Given the description of an element on the screen output the (x, y) to click on. 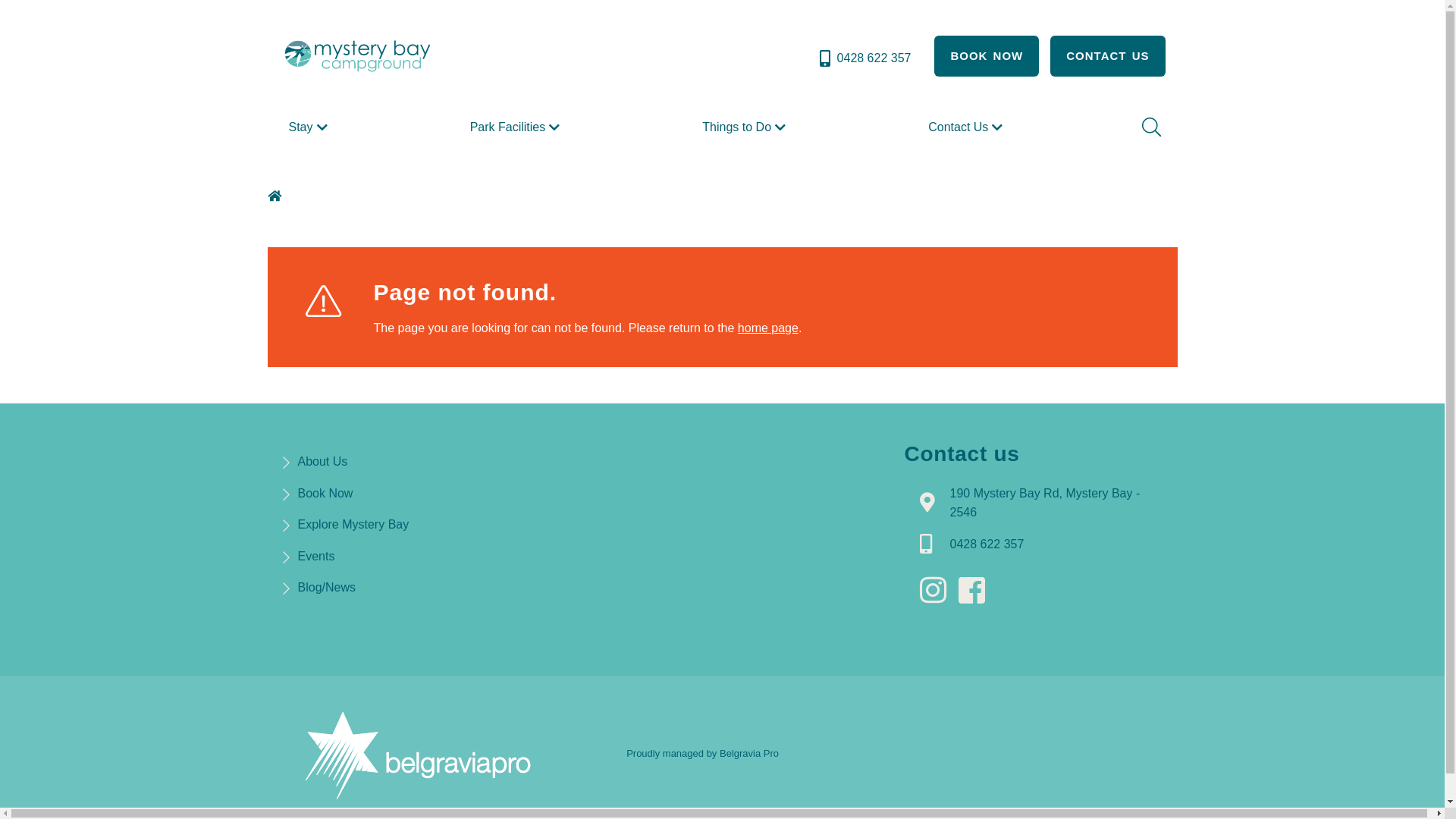
Things to Do Element type: text (745, 127)
Contact Us Element type: text (967, 127)
  Element type: text (975, 590)
Blog/News Element type: text (325, 586)
Explore Mystery Bay Element type: text (352, 523)
Proudly managed by Belgravia Pro Element type: text (702, 753)
CONTACT US Element type: text (1107, 55)
Book Now Element type: text (324, 492)
  Element type: text (275, 195)
Search Element type: text (1150, 127)
Park Facilities Element type: text (517, 127)
home page Element type: text (767, 327)
Events Element type: text (315, 555)
0428 622 357 Element type: text (863, 58)
About Us Element type: text (322, 461)
BOOK NOW Element type: text (986, 55)
0428 622 357 Element type: text (986, 543)
  Element type: text (936, 590)
Stay Element type: text (309, 127)
